Given the description of an element on the screen output the (x, y) to click on. 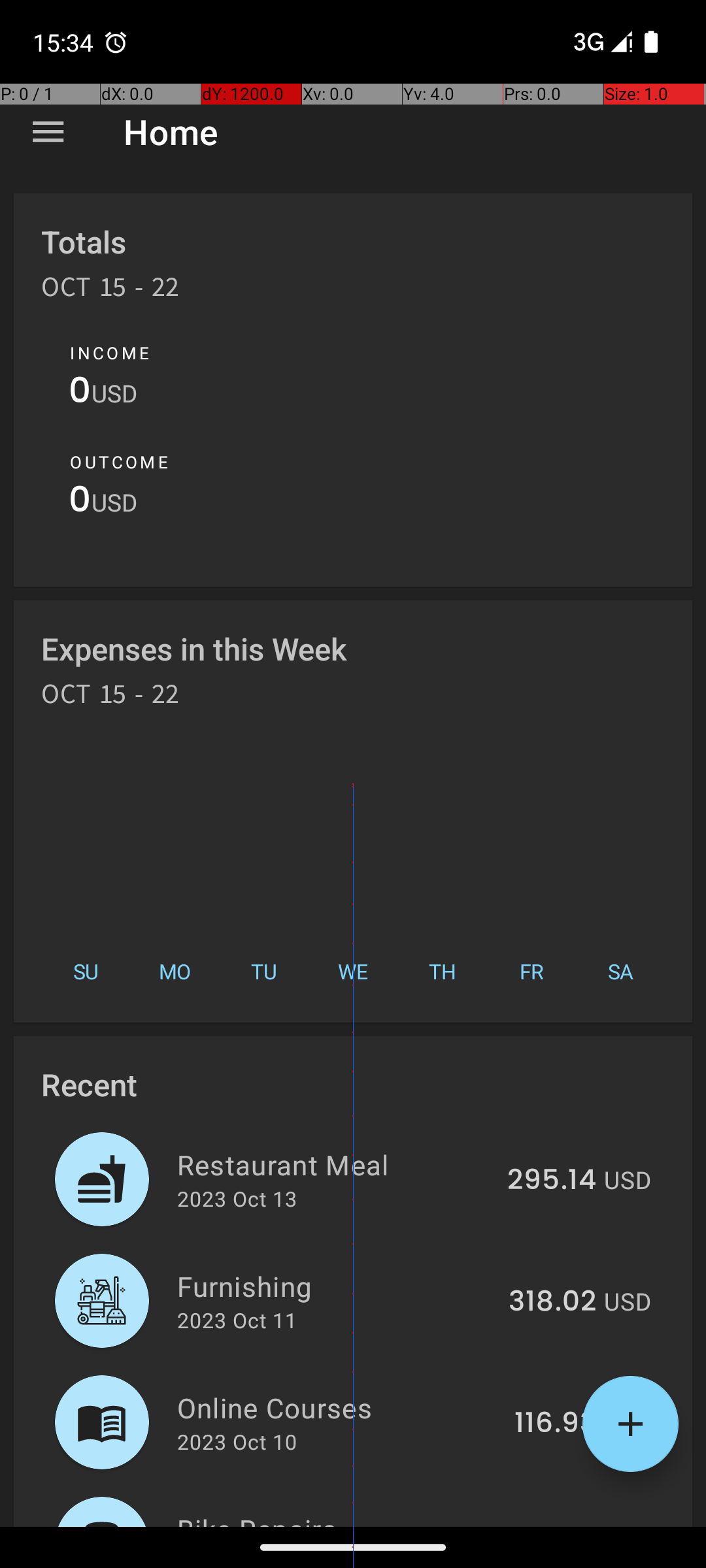
295.14 Element type: android.widget.TextView (551, 1180)
Furnishing Element type: android.widget.TextView (335, 1285)
318.02 Element type: android.widget.TextView (551, 1301)
Online Courses Element type: android.widget.TextView (338, 1407)
116.93 Element type: android.widget.TextView (554, 1423)
463.37 Element type: android.widget.TextView (548, 1524)
